Given the description of an element on the screen output the (x, y) to click on. 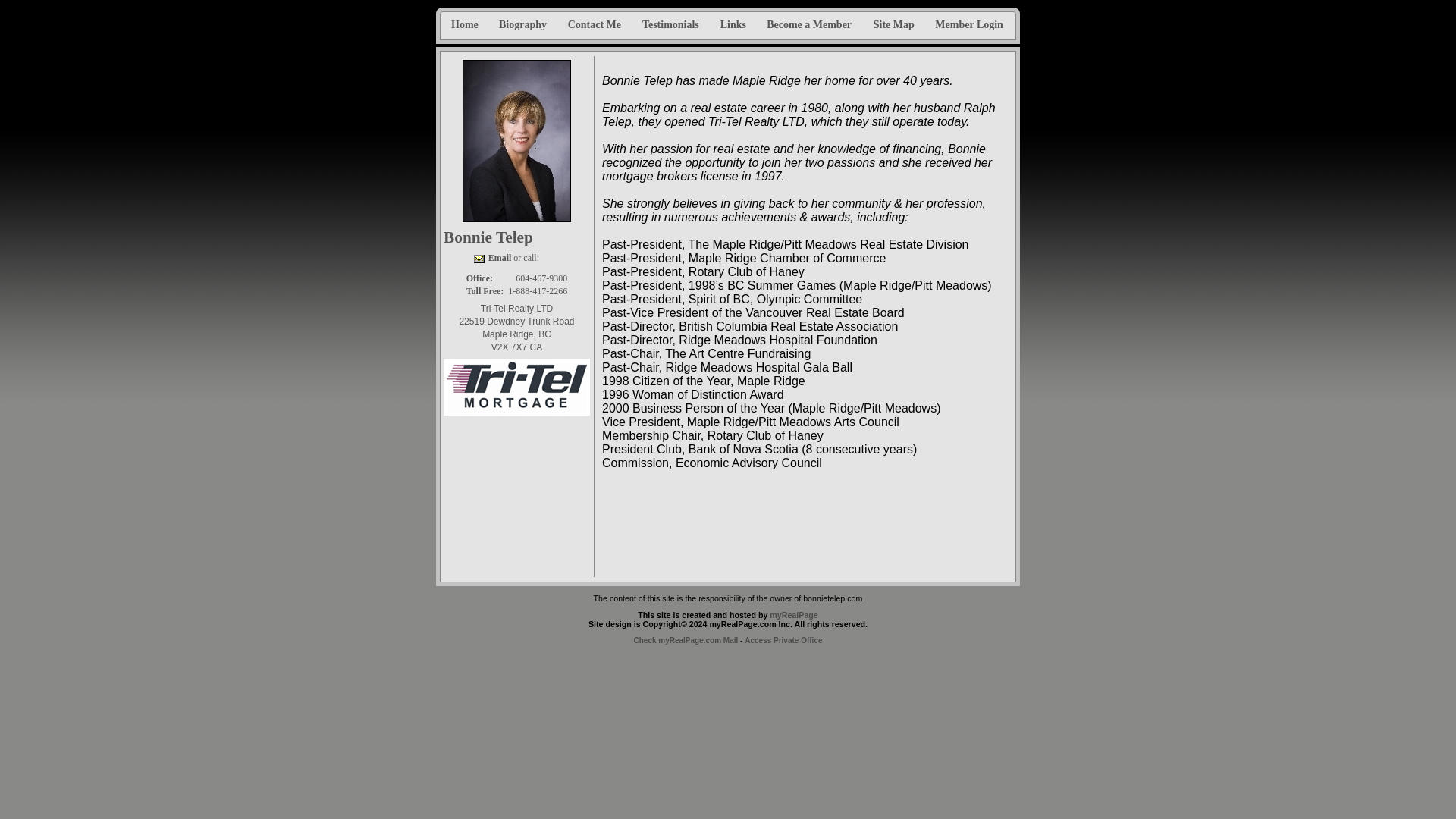
Home (464, 21)
Links (733, 21)
Links (733, 21)
Site Map (894, 21)
Member Login (969, 21)
Site Map (894, 21)
Biography (523, 21)
Become a Member (809, 21)
Home (464, 21)
Biography (523, 21)
